Given the description of an element on the screen output the (x, y) to click on. 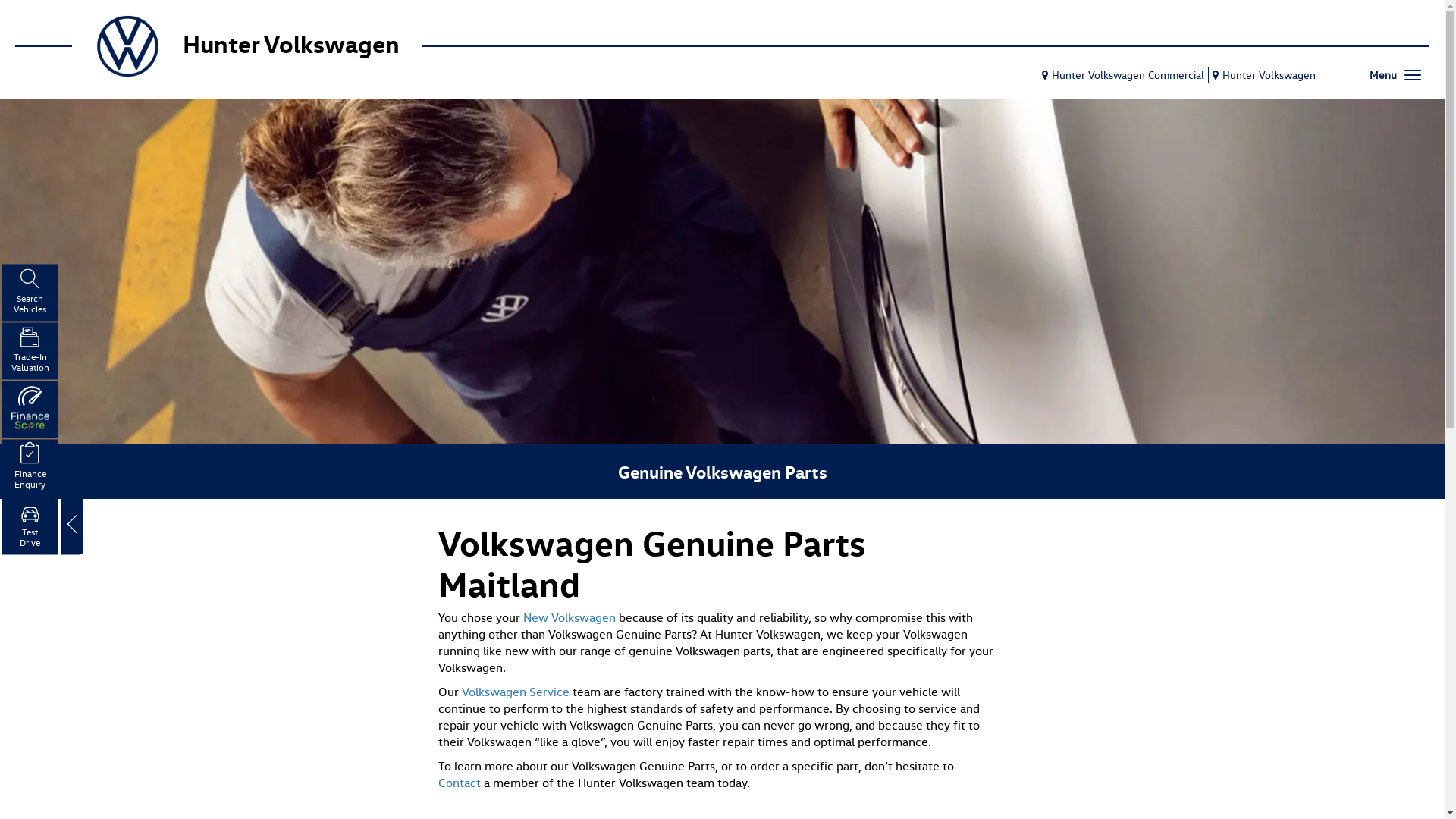
Test
Drive Element type: text (29, 525)
Hunter Volkswagen Commercial Element type: text (1121, 74)
Hunter Volkswagen Element type: text (1261, 74)
New Volkswagen Element type: text (569, 616)
Trade-In
Valuation Element type: text (29, 351)
Finance
Enquiry Element type: text (29, 467)
Search
Vehicles Element type: text (29, 291)
Volkswagen Service Element type: text (514, 691)
Contact Element type: text (459, 782)
